Given the description of an element on the screen output the (x, y) to click on. 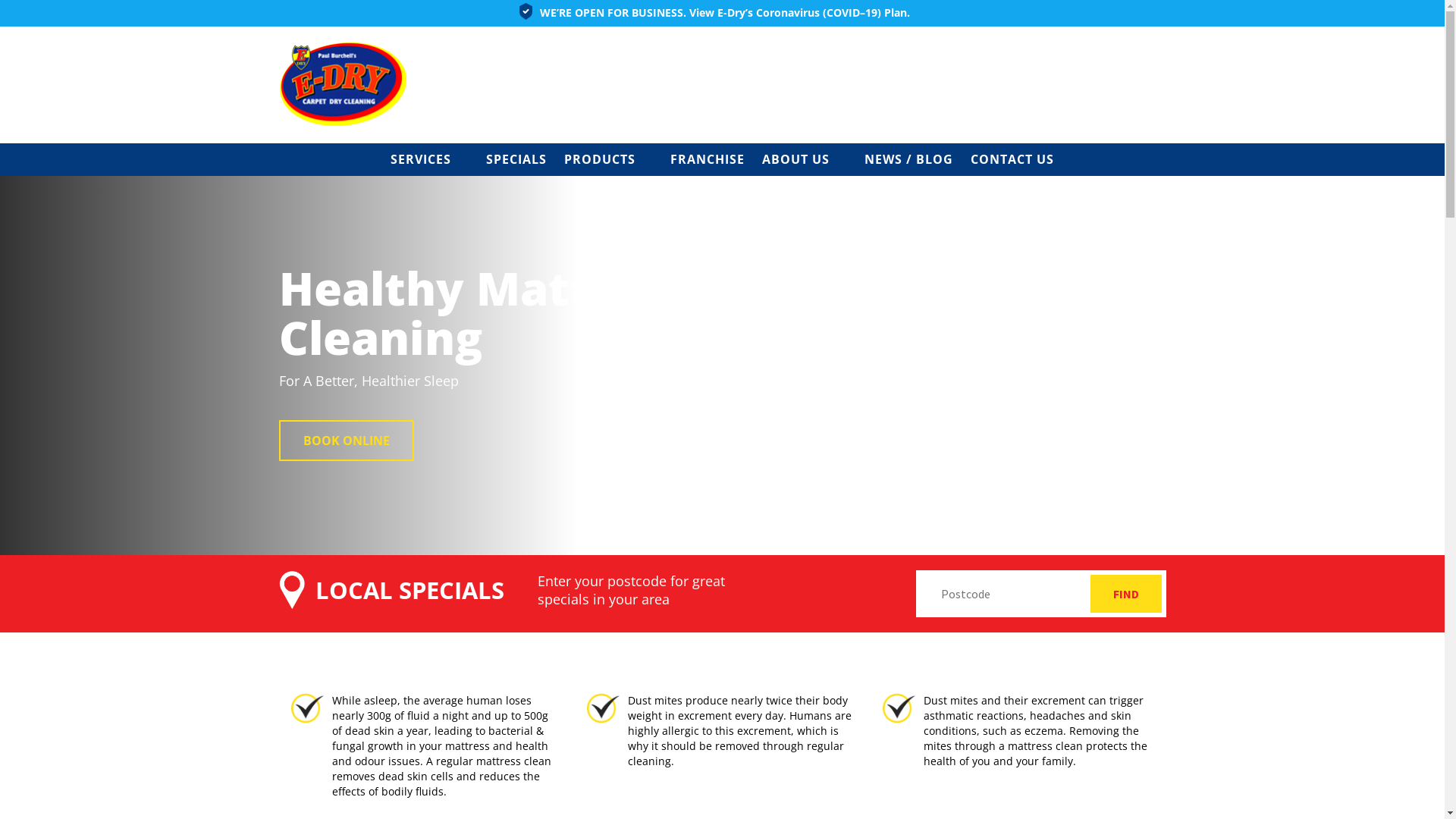
SERVICES Element type: text (420, 159)
BOOK ONLINE Element type: text (346, 440)
CONTACT US Element type: text (1012, 159)
NEWS / BLOG Element type: text (908, 159)
PRODUCTS Element type: text (599, 159)
E-Dry Element type: hover (343, 83)
FRANCHISE Element type: text (707, 159)
FIND Element type: text (1125, 593)
ABOUT US Element type: text (795, 159)
SPECIALS Element type: text (516, 159)
BOOK ONLINE Element type: text (346, 438)
